Given the description of an element on the screen output the (x, y) to click on. 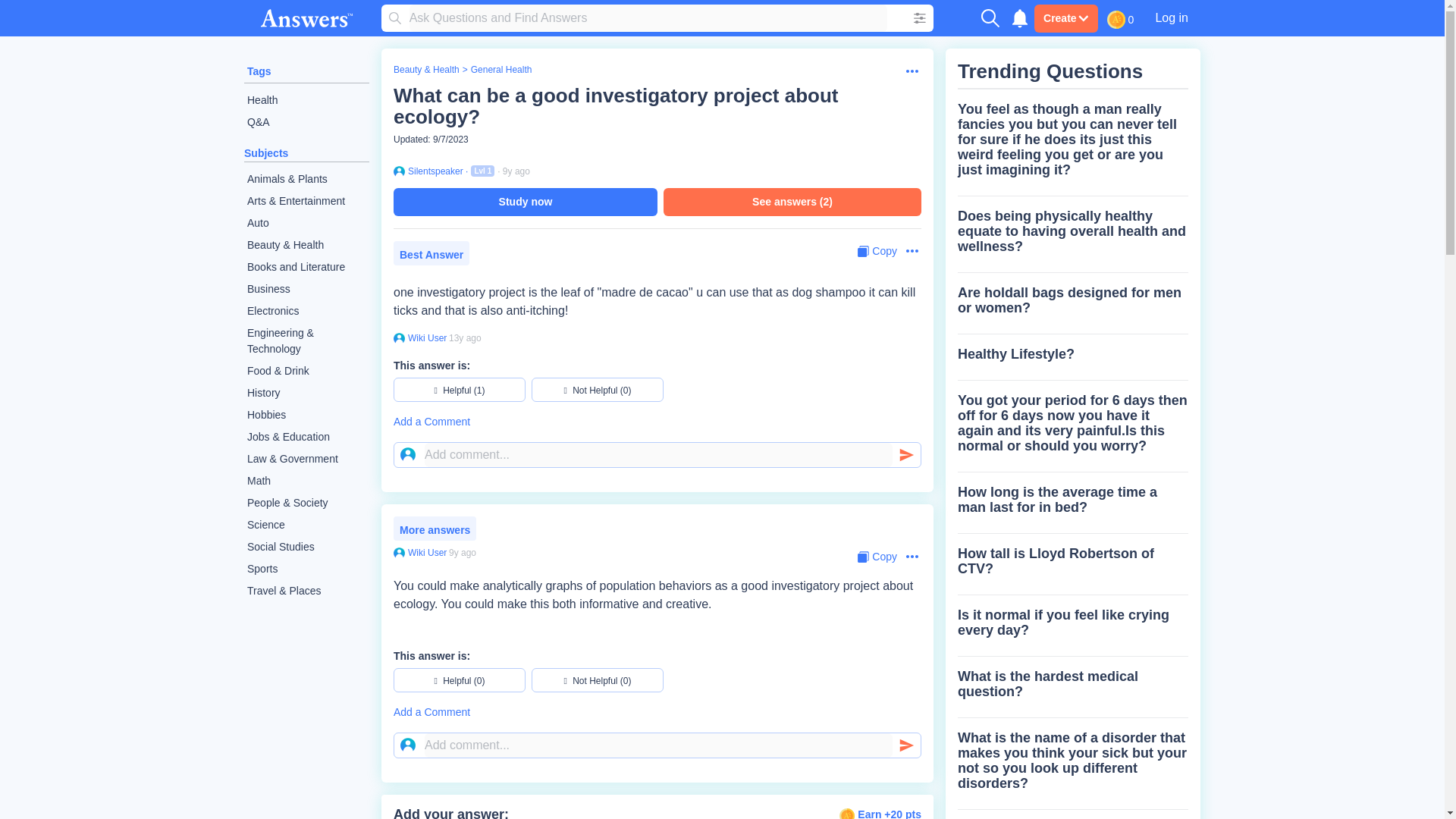
Create (1065, 18)
Health (306, 100)
Auto (306, 223)
2011-02-26 09:10:55 (464, 337)
Business (306, 289)
Hobbies (306, 414)
Subjects (266, 152)
Tags (258, 70)
Books and Literature (306, 267)
2014-08-21 13:13:05 (462, 552)
